Given the description of an element on the screen output the (x, y) to click on. 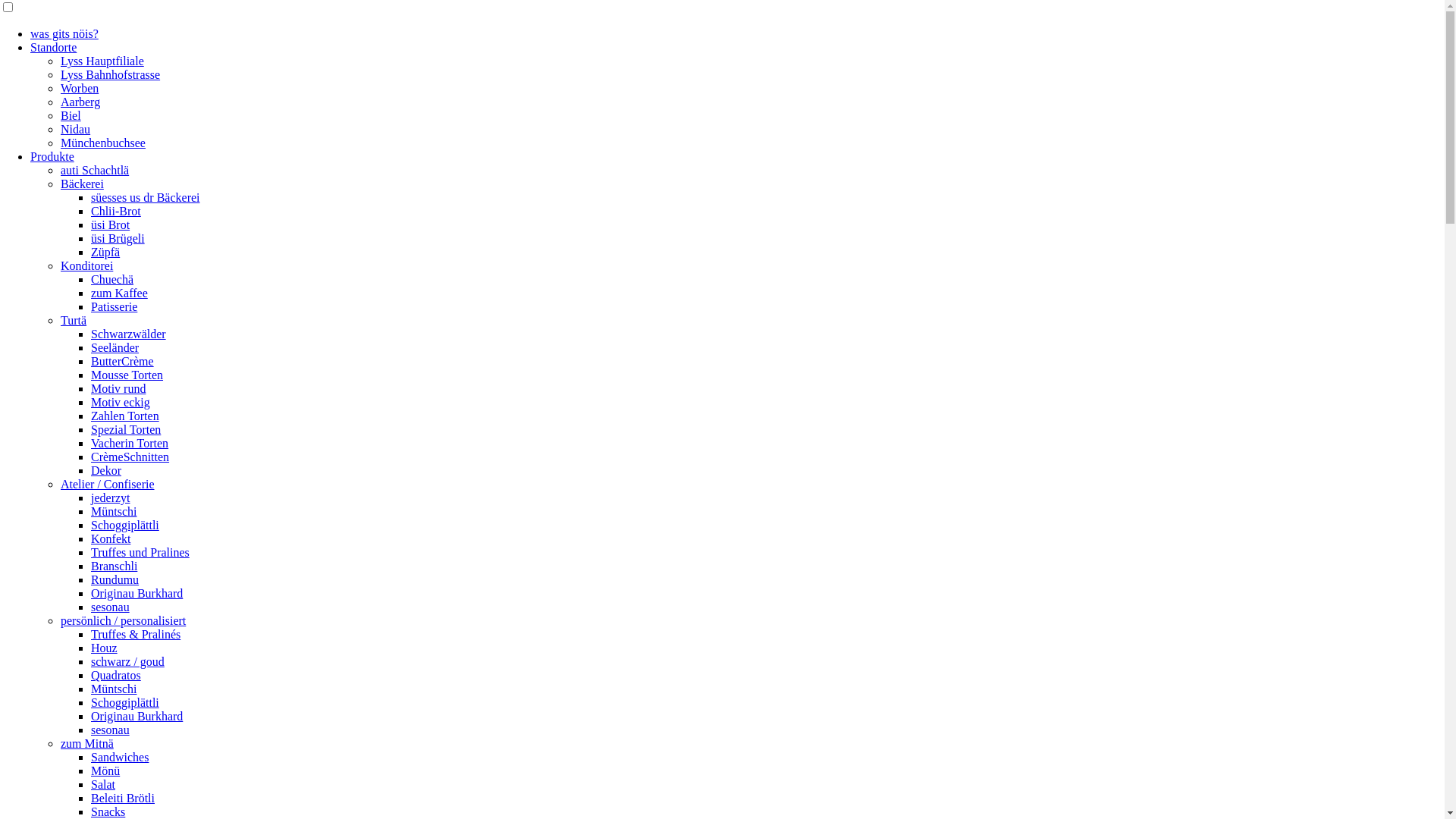
Rundumu Element type: text (114, 579)
Chlii-Brot Element type: text (116, 210)
Atelier / Confiserie Element type: text (107, 483)
Nidau Element type: text (75, 128)
Motiv rund Element type: text (118, 388)
Patisserie Element type: text (114, 306)
Spezial Torten Element type: text (125, 429)
Produkte Element type: text (52, 156)
zum Kaffee Element type: text (119, 292)
Worben Element type: text (79, 87)
Originau Burkhard Element type: text (136, 592)
Snacks Element type: text (108, 811)
Aarberg Element type: text (80, 101)
Konditorei Element type: text (86, 265)
Motiv eckig Element type: text (120, 401)
Dekor Element type: text (106, 470)
schwarz / goud Element type: text (127, 661)
Biel Element type: text (70, 115)
sesonau Element type: text (110, 606)
Branschli Element type: text (114, 565)
Lyss Hauptfiliale Element type: text (102, 60)
Originau Burkhard Element type: text (136, 715)
Salat Element type: text (103, 784)
Truffes und Pralines Element type: text (140, 552)
Sandwiches Element type: text (119, 756)
sesonau Element type: text (110, 729)
Konfekt Element type: text (110, 538)
Mousse Torten Element type: text (127, 374)
Houz Element type: text (104, 647)
Quadratos Element type: text (116, 674)
Lyss Bahnhofstrasse Element type: text (110, 74)
jederzyt Element type: text (110, 497)
Standorte Element type: text (53, 46)
Zahlen Torten Element type: text (125, 415)
Vacherin Torten Element type: text (129, 442)
